Given the description of an element on the screen output the (x, y) to click on. 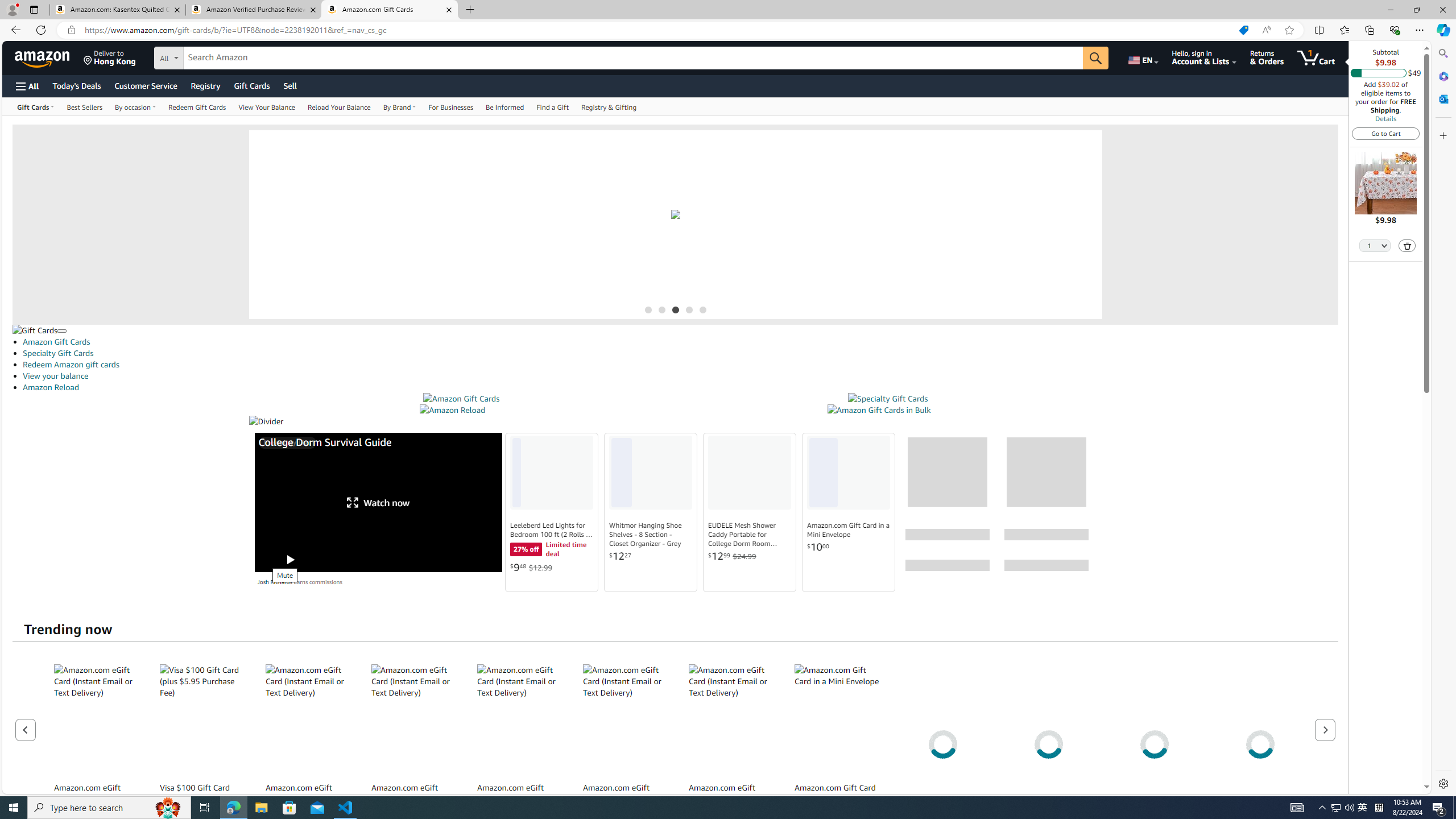
Registry & Gifting (609, 106)
Gift Cards (34, 330)
Gift Cards (251, 85)
Amazon Gift Cards (460, 398)
Go (1096, 57)
Quantity Selector (1374, 245)
Mute (266, 559)
Earns commissions (318, 581)
Amazon.com Gift Card in a Mini Envelope (848, 529)
Divider (675, 421)
View your balance (55, 375)
Specialty Gift Cards (887, 398)
